Given the description of an element on the screen output the (x, y) to click on. 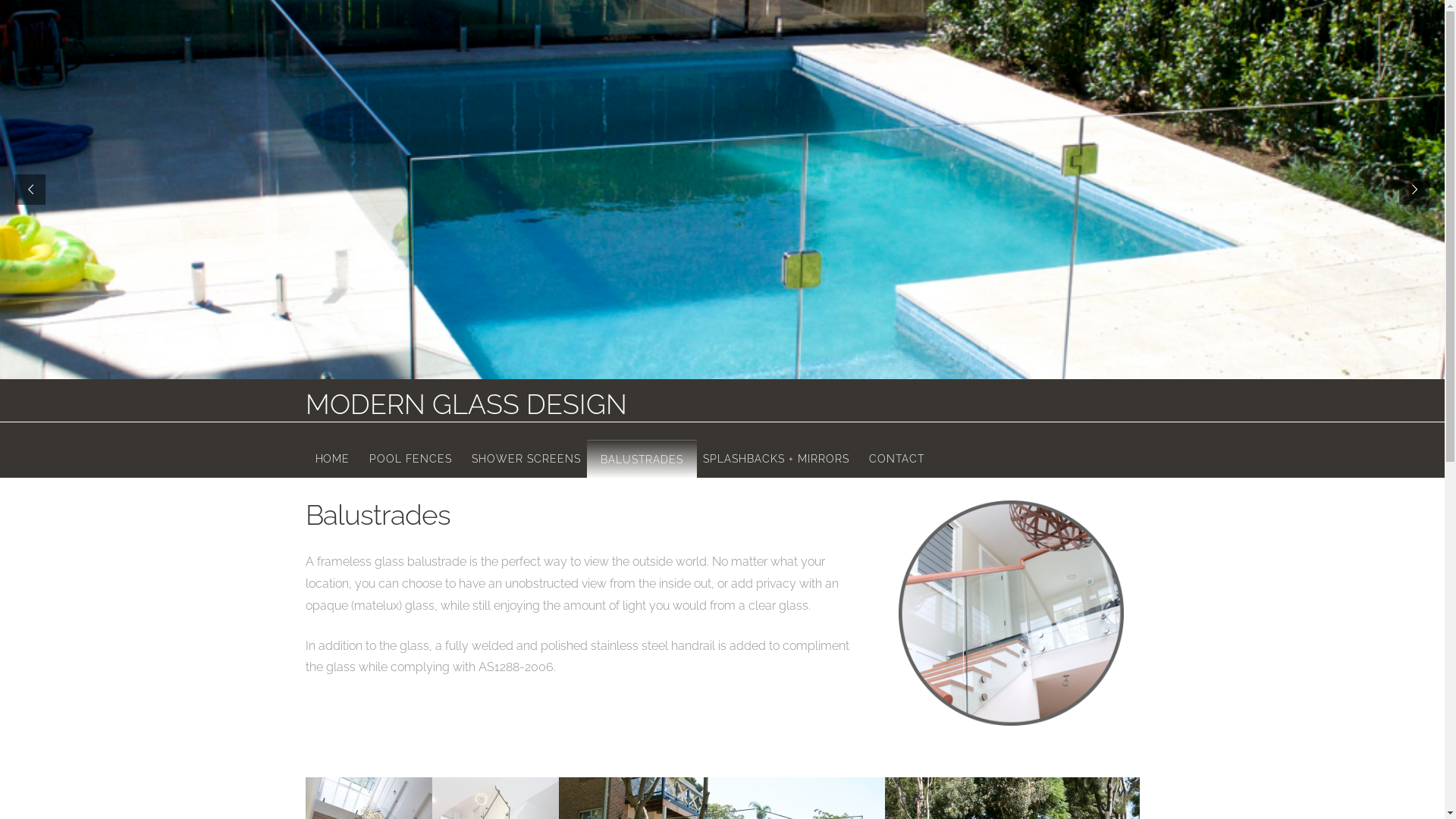
POOL FENCES Element type: text (410, 455)
SHOWER SCREENS Element type: text (525, 455)
HOME Element type: text (331, 455)
BALUSTRADES Element type: text (641, 455)
MODERN GLASS DESIGN Element type: text (465, 403)
SPLASHBACKS + MIRRORS Element type: text (776, 455)
CONTACT Element type: text (896, 455)
